Given the description of an element on the screen output the (x, y) to click on. 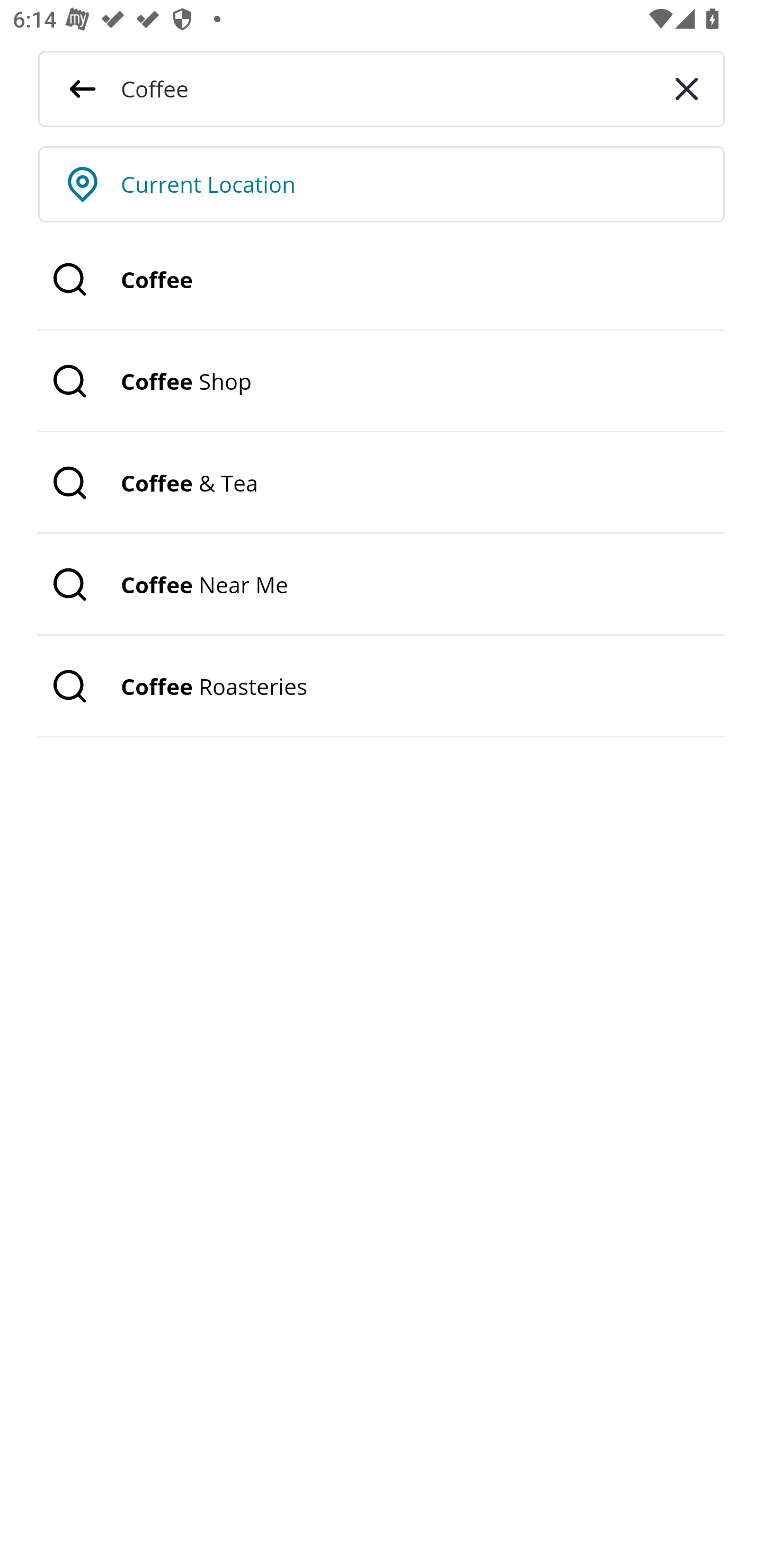
Coffee (381, 279)
